Given the description of an element on the screen output the (x, y) to click on. 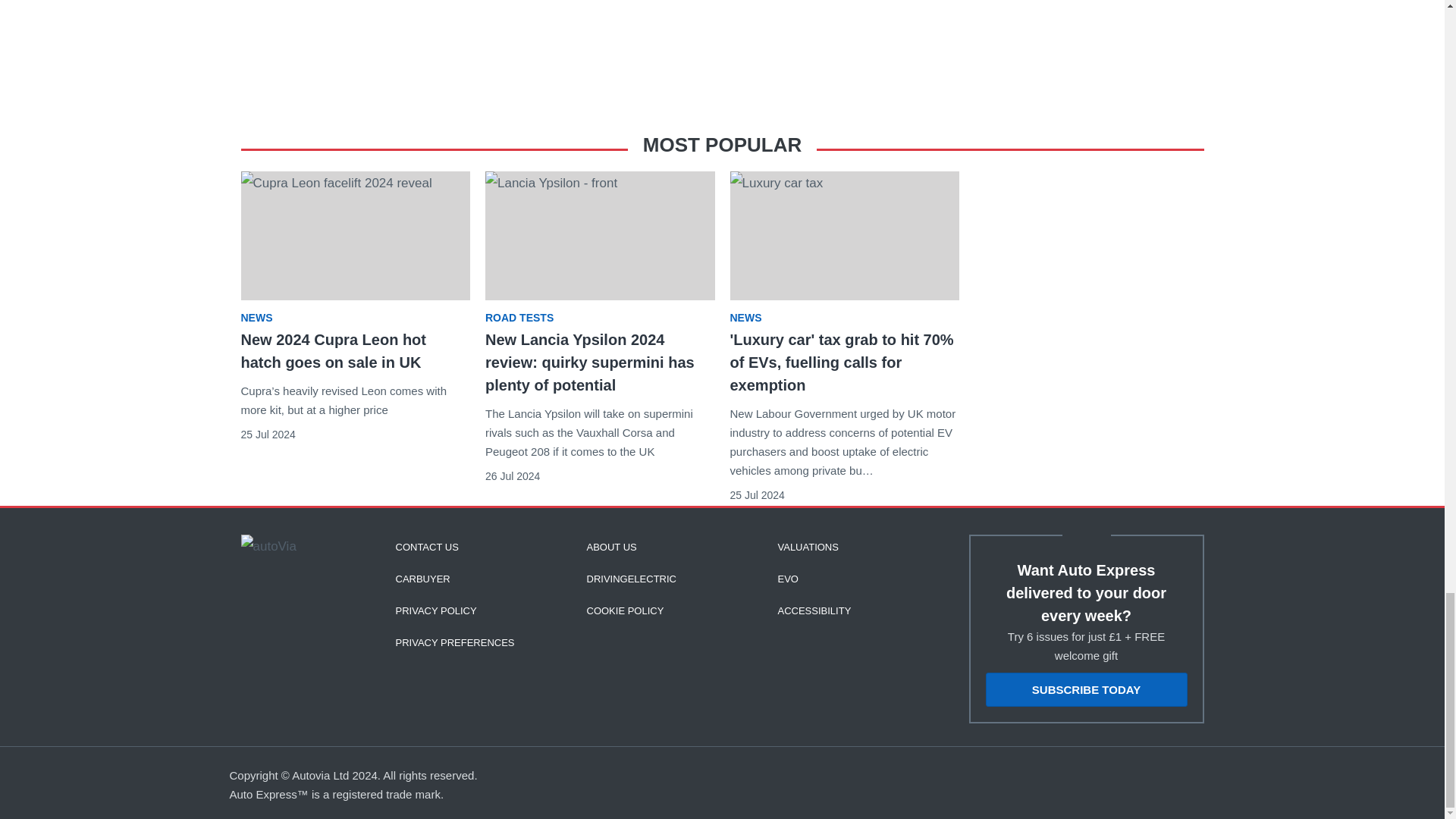
SUBSCRIBE TODAY (1086, 689)
